Given the description of an element on the screen output the (x, y) to click on. 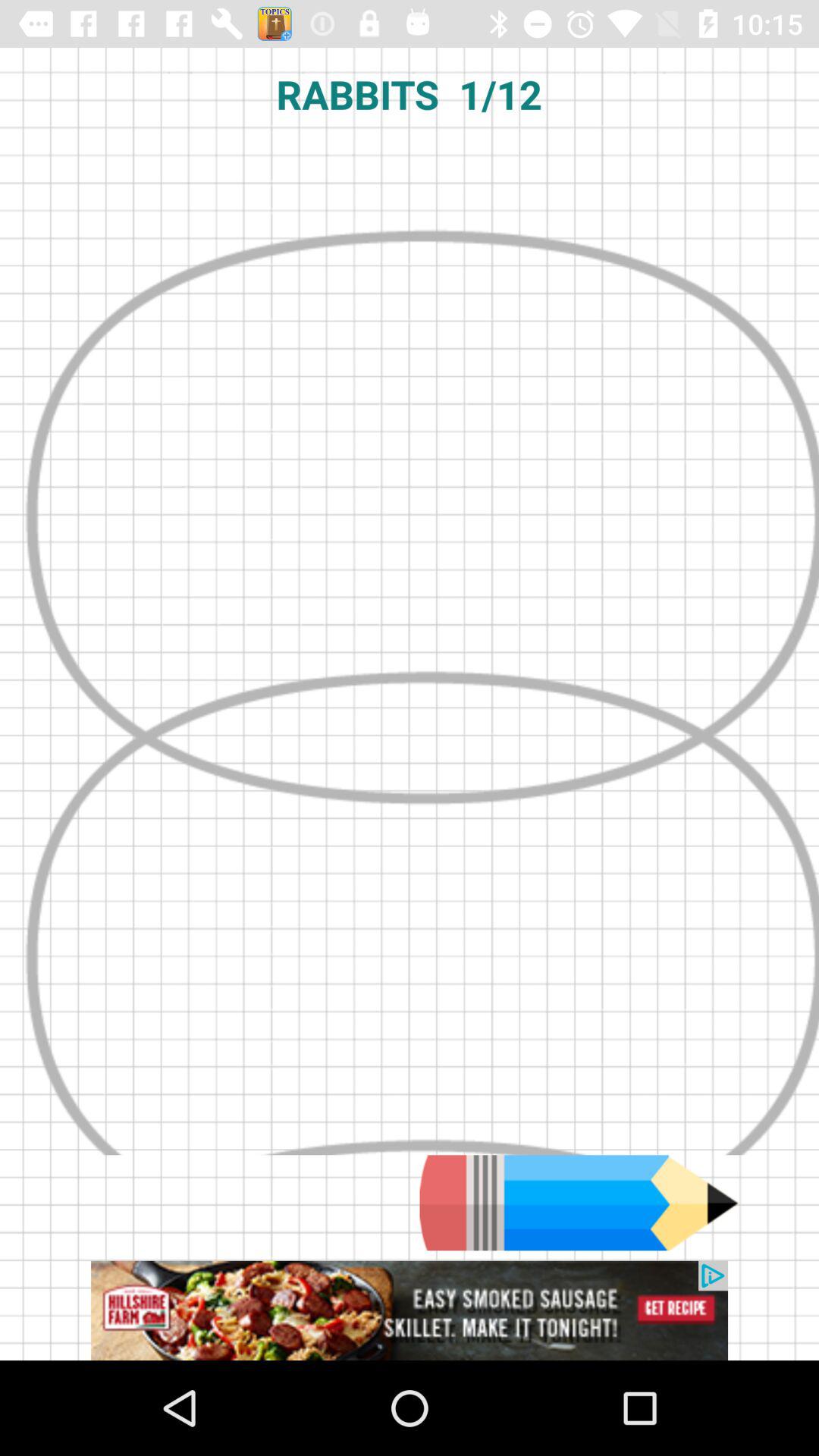
go to advertisement (409, 1310)
